Given the description of an element on the screen output the (x, y) to click on. 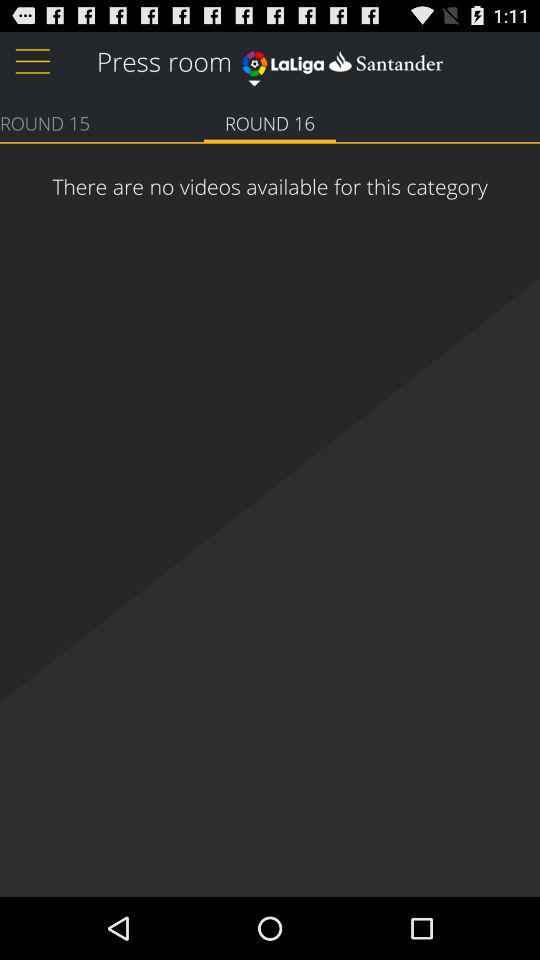
swipe until the round 15 item (45, 122)
